Given the description of an element on the screen output the (x, y) to click on. 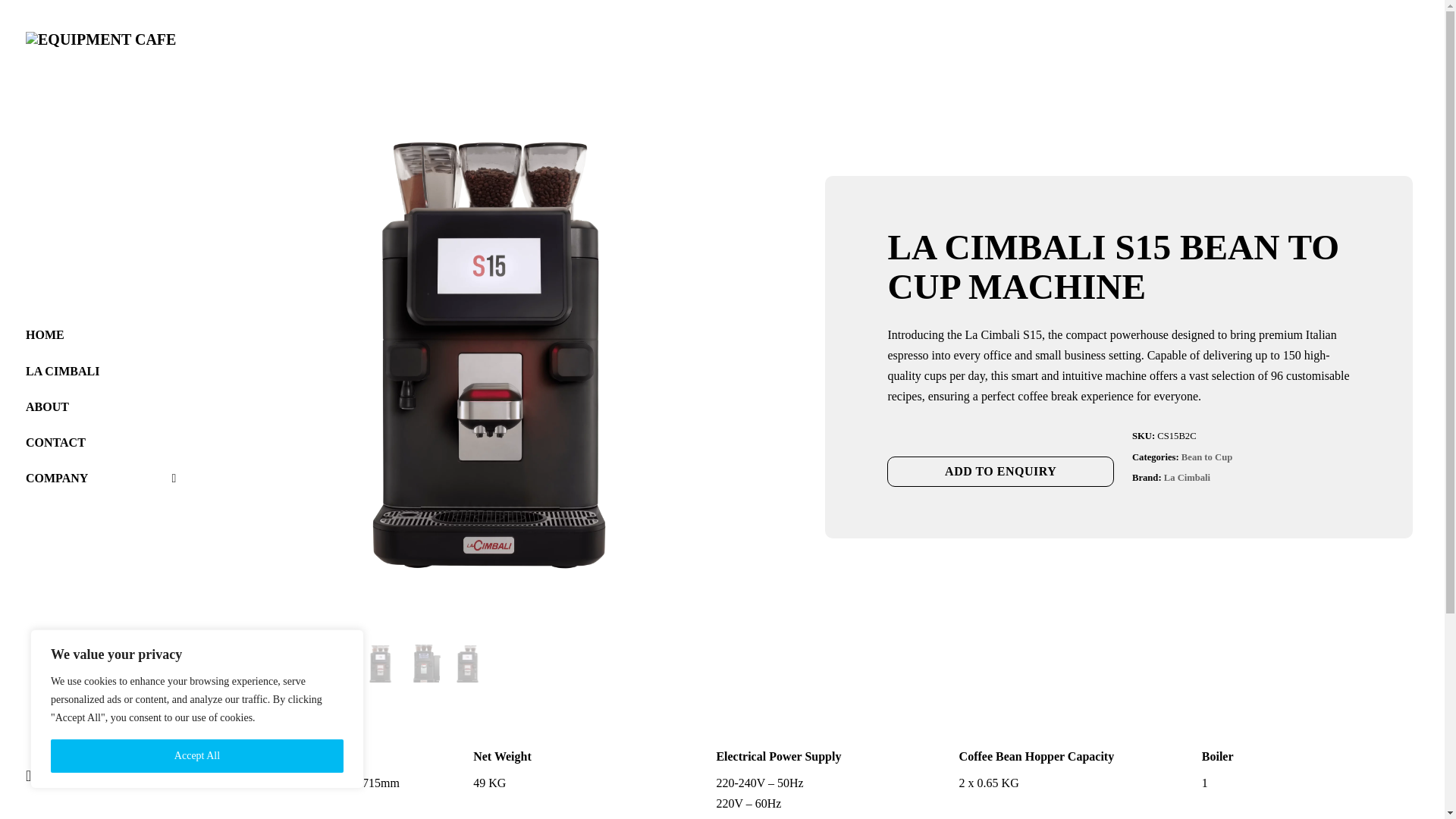
ADD TO ENQUIRY (999, 471)
HOME (101, 334)
ABOUT (101, 406)
Bean to Cup (1205, 457)
Accept All (196, 756)
CONTACT (101, 442)
LA CIMBALI (101, 371)
La Cimbali (1186, 477)
